Given the description of an element on the screen output the (x, y) to click on. 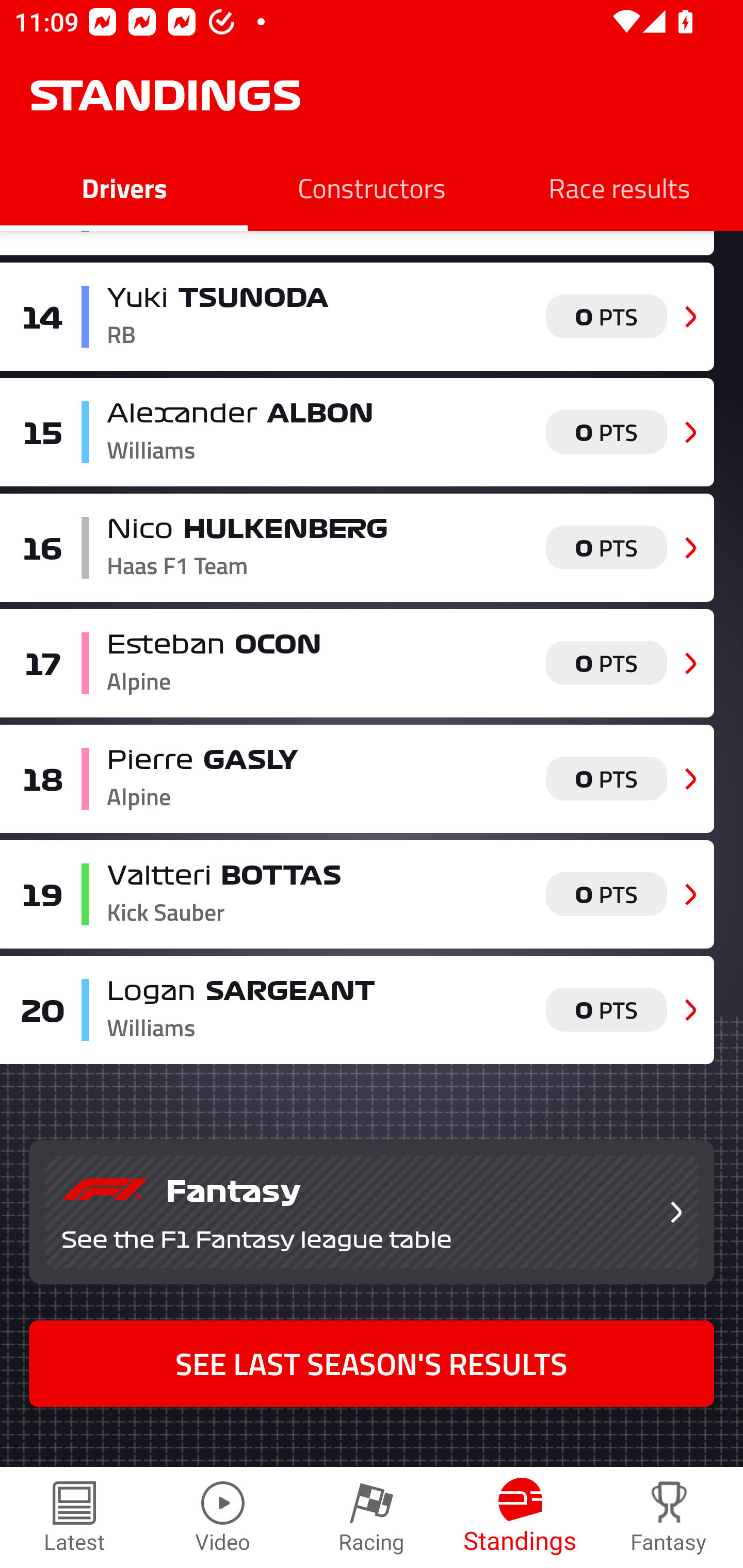
Constructors (371, 187)
Race results (619, 187)
14 Yuki TSUNODA RB 0 PTS (357, 316)
15 Alexander ALBON Williams 0 PTS (357, 431)
16 Nico HULKENBERG Haas F1 Team 0 PTS (357, 547)
17 Esteban OCON Alpine 0 PTS (357, 663)
18 Pierre GASLY Alpine 0 PTS (357, 778)
19 Valtteri BOTTAS Kick Sauber 0 PTS (357, 894)
20 Logan SARGEANT Williams 0 PTS (357, 1010)
Fantasy See the F1 Fantasy league table (371, 1211)
SEE LAST SEASON'S RESULTS (371, 1363)
Latest (74, 1517)
Video (222, 1517)
Racing (371, 1517)
Fantasy (668, 1517)
